Given the description of an element on the screen output the (x, y) to click on. 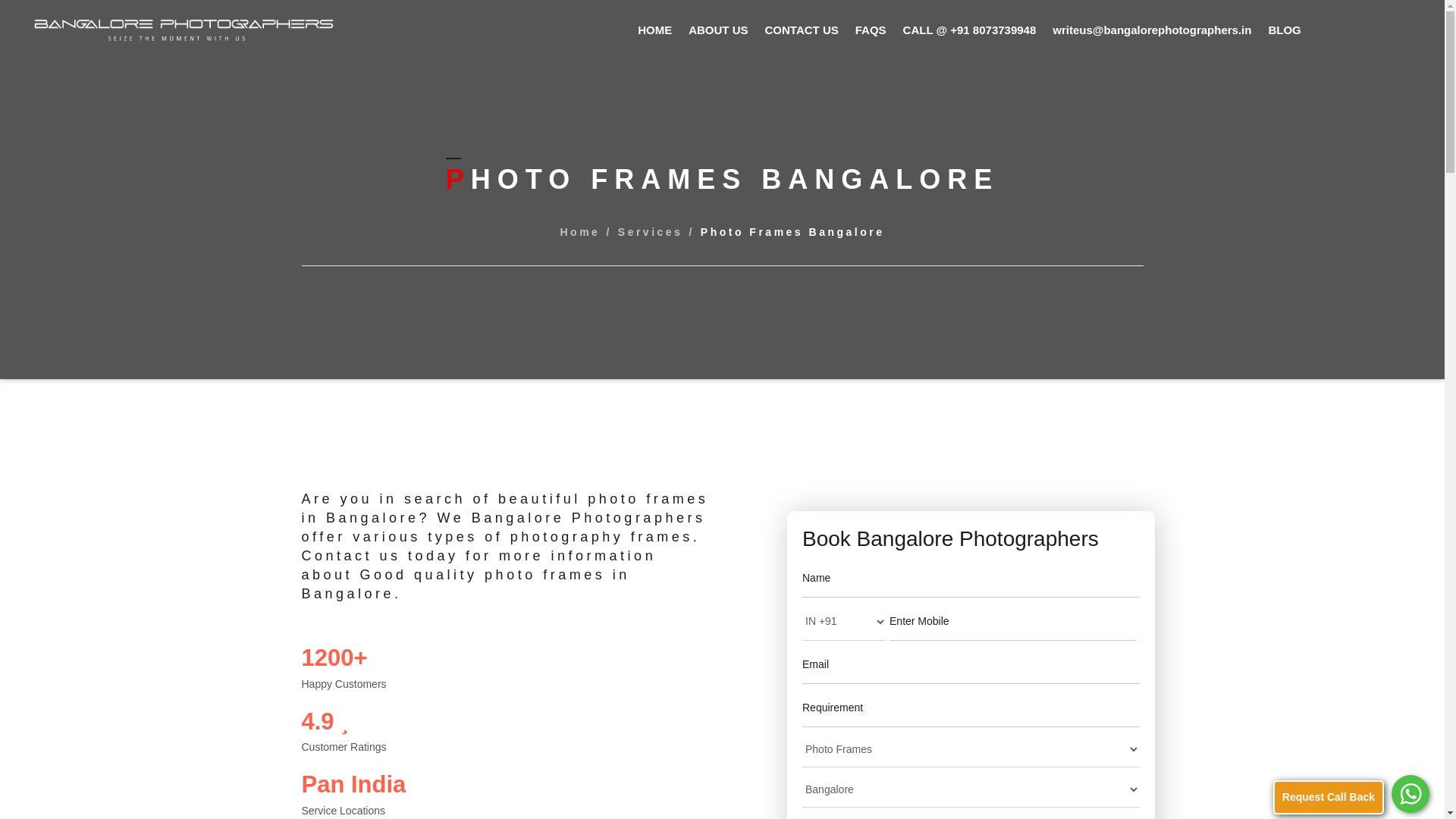
CONTACT US (801, 29)
FAQS (871, 29)
BLOG (1284, 29)
ABOUT US (718, 29)
Services (649, 232)
Home (579, 232)
Request Call Back (1328, 797)
HOME (654, 29)
